Given the description of an element on the screen output the (x, y) to click on. 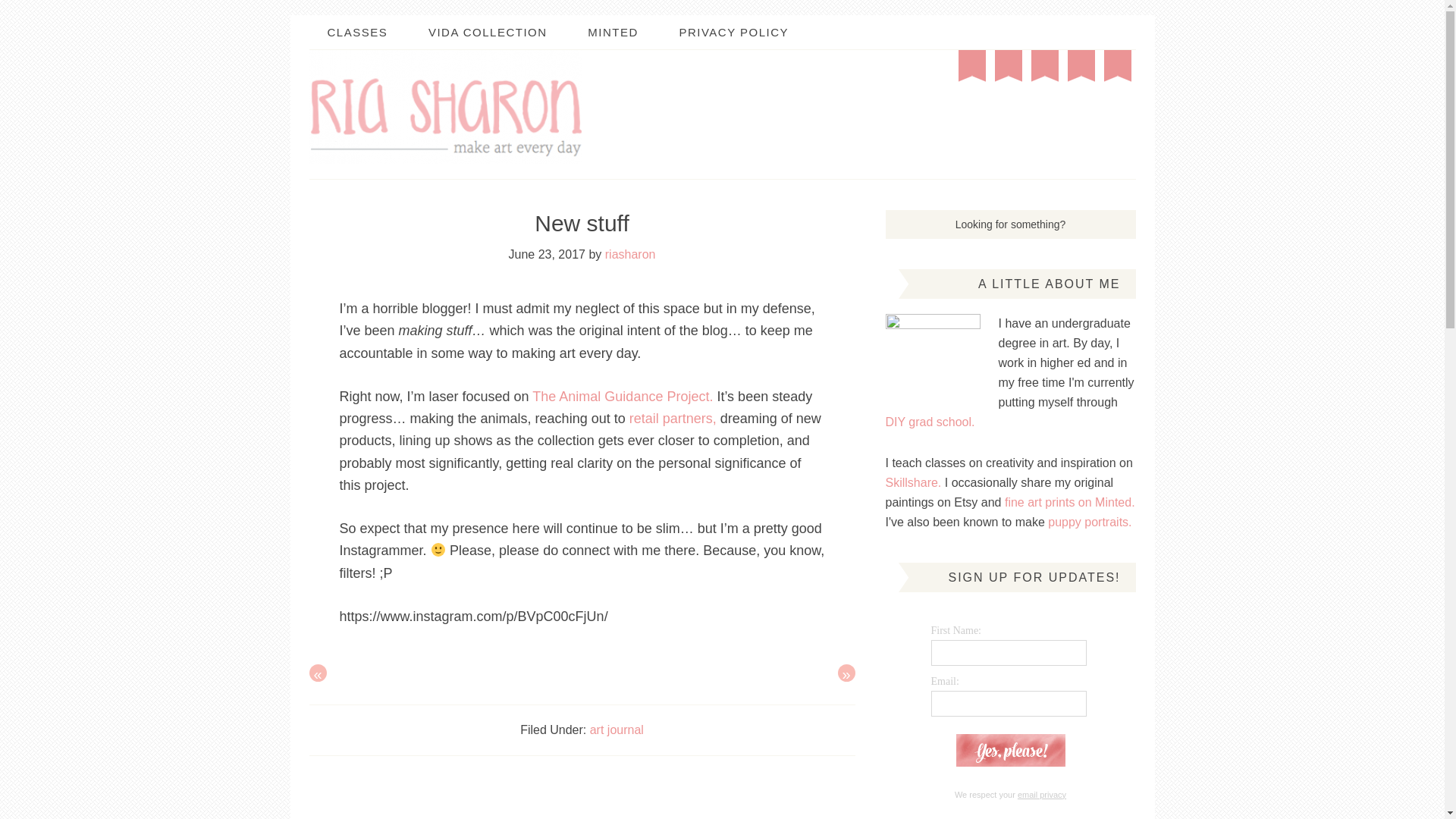
VIDA COLLECTION (488, 32)
The Animal Guidance Project. (622, 396)
Skillshare. (913, 481)
PRIVACY POLICY (733, 32)
riasharon (630, 254)
CLASSES (357, 32)
DIY grad school. (930, 421)
puppy portraits. (1089, 521)
Next Post: News: Black and White and Art All Over 2017 (845, 672)
Privacy Policy (1041, 794)
fine art prints on Minted. (1069, 502)
email privacy (1041, 794)
RIA SHARON (445, 106)
MINTED (612, 32)
